Given the description of an element on the screen output the (x, y) to click on. 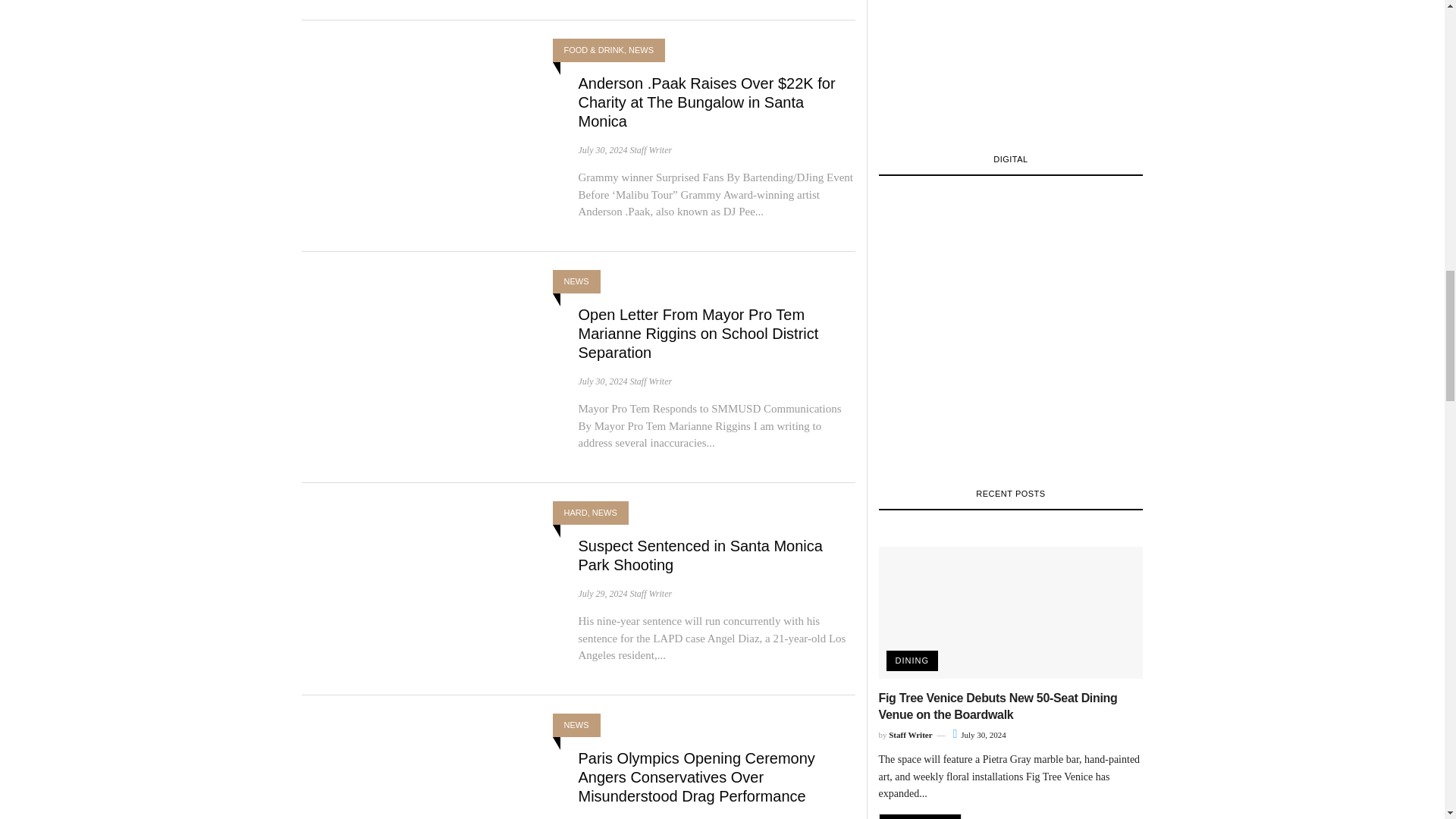
Suspect Sentenced in Santa Monica Park Shooting (700, 555)
Posts by Staff Writer (649, 593)
Posts by Staff Writer (649, 149)
Posts by Staff Writer (649, 380)
